Given the description of an element on the screen output the (x, y) to click on. 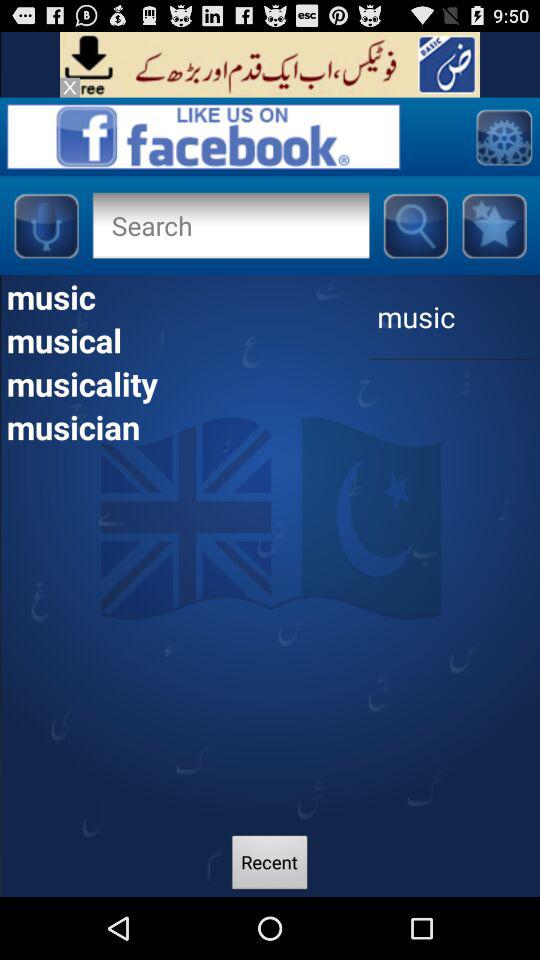
audio record (45, 225)
